Given the description of an element on the screen output the (x, y) to click on. 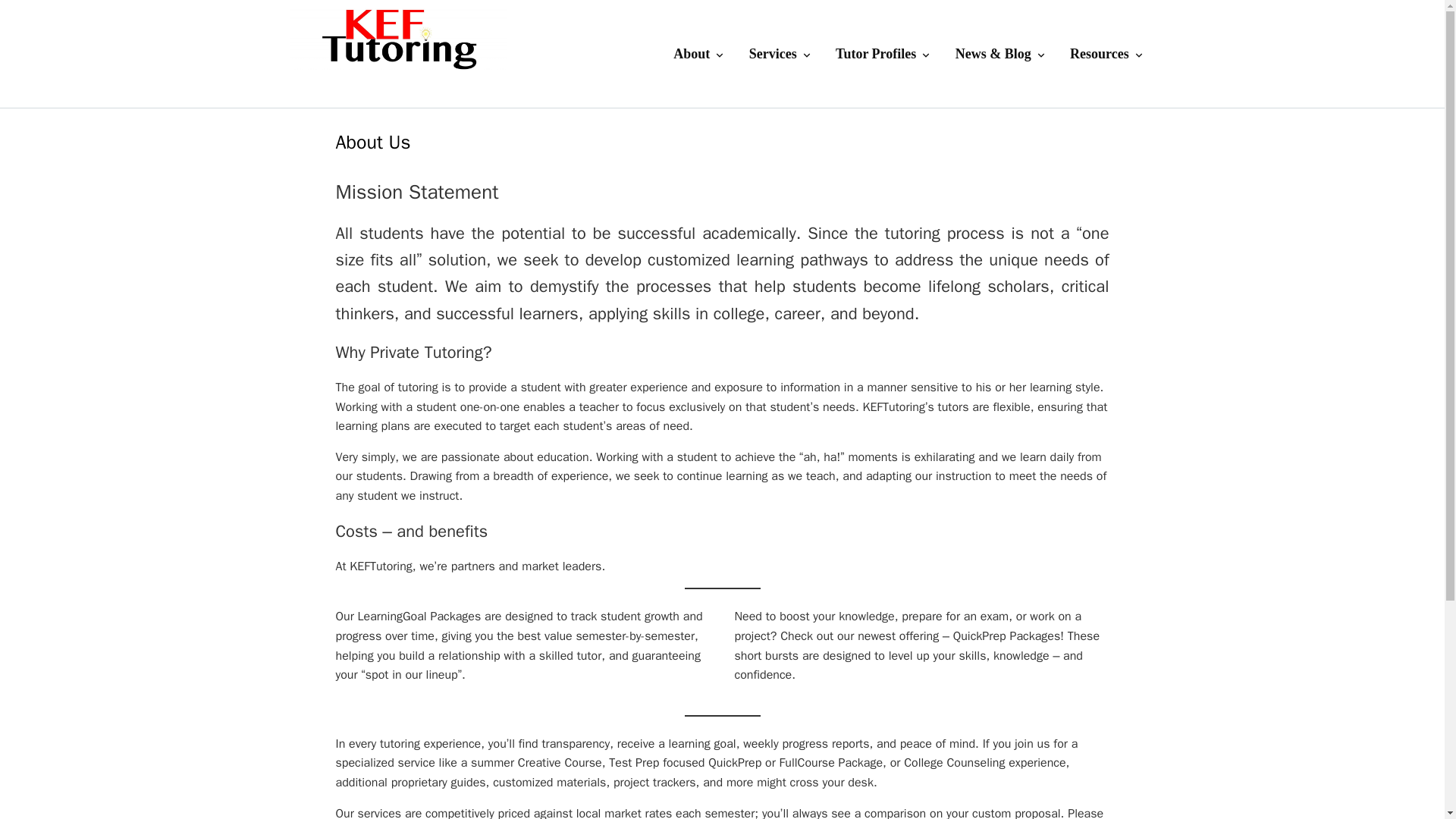
Services (780, 53)
About (699, 53)
Resources (1106, 53)
Skip to content (54, 20)
KEFTutoring (359, 138)
Tutor Profiles (883, 53)
